Given the description of an element on the screen output the (x, y) to click on. 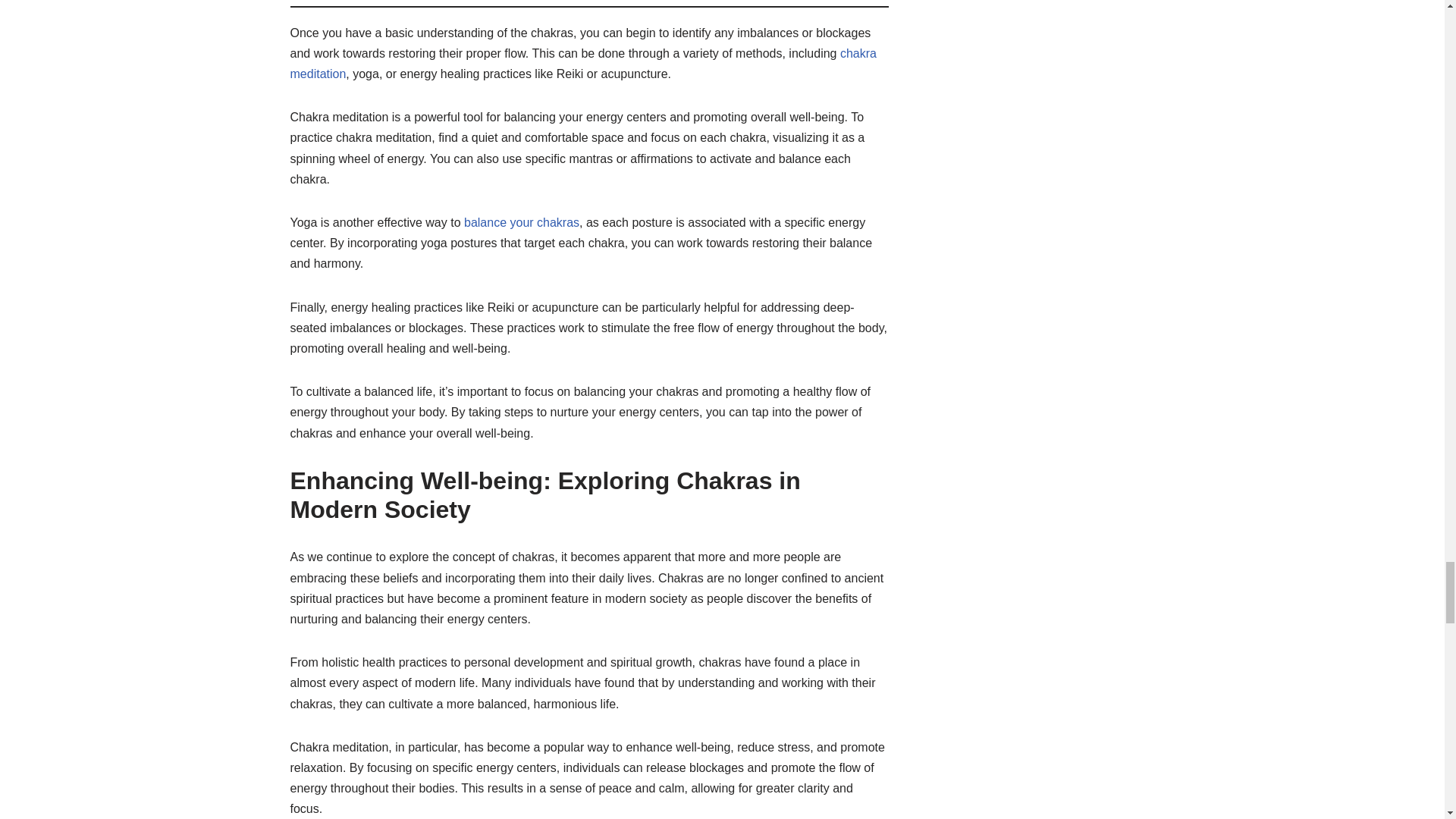
chakra meditation (582, 63)
balance your chakras (521, 222)
